Given the description of an element on the screen output the (x, y) to click on. 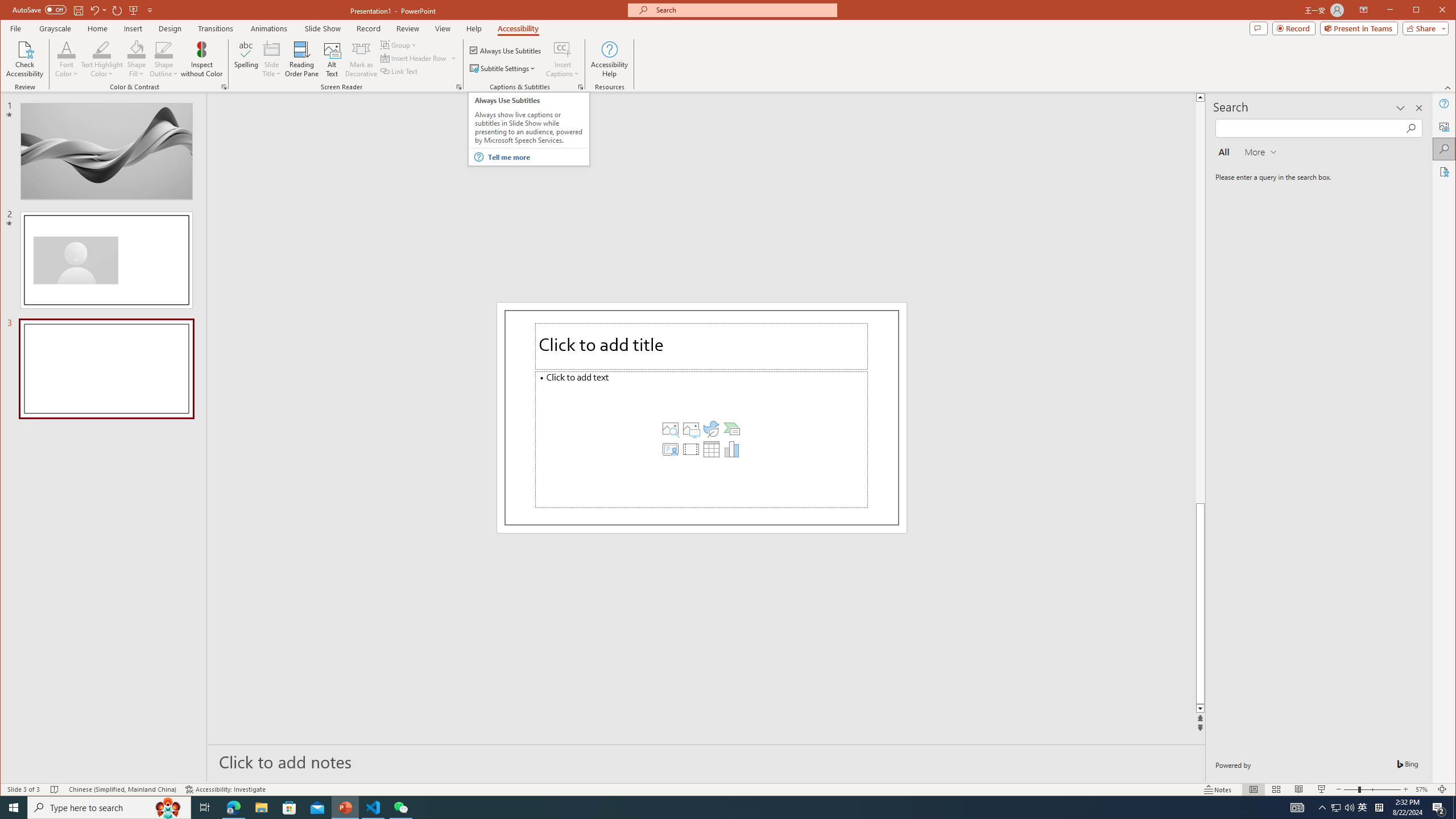
Group (399, 44)
WeChat - 1 running window (400, 807)
Insert Header Row (413, 57)
Insert an Icon (710, 428)
Always Use Subtitles (505, 49)
Accessibility Help (608, 59)
